Given the description of an element on the screen output the (x, y) to click on. 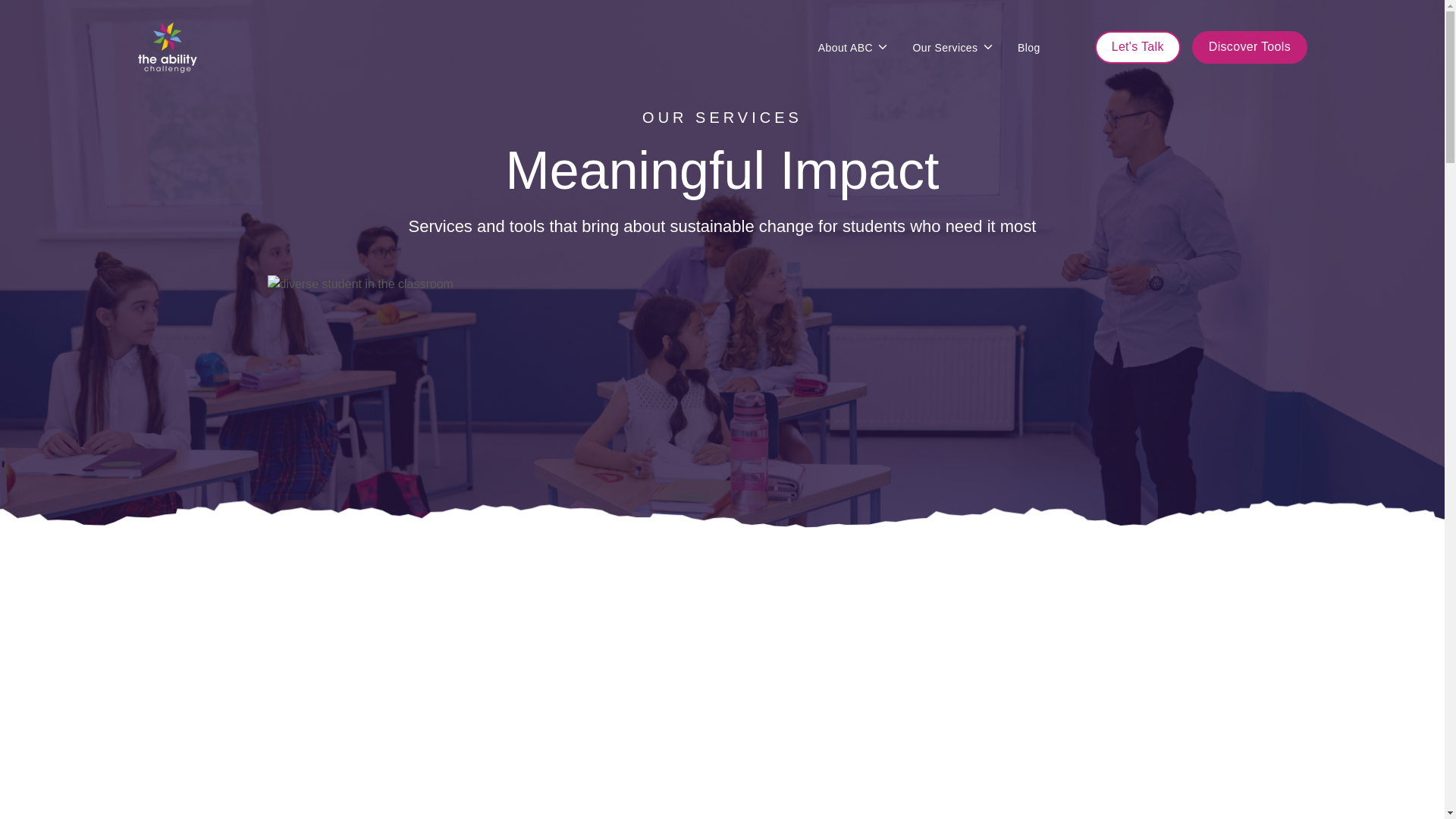
Let's Talk (1137, 47)
Discover Tools (1249, 47)
